Given the description of an element on the screen output the (x, y) to click on. 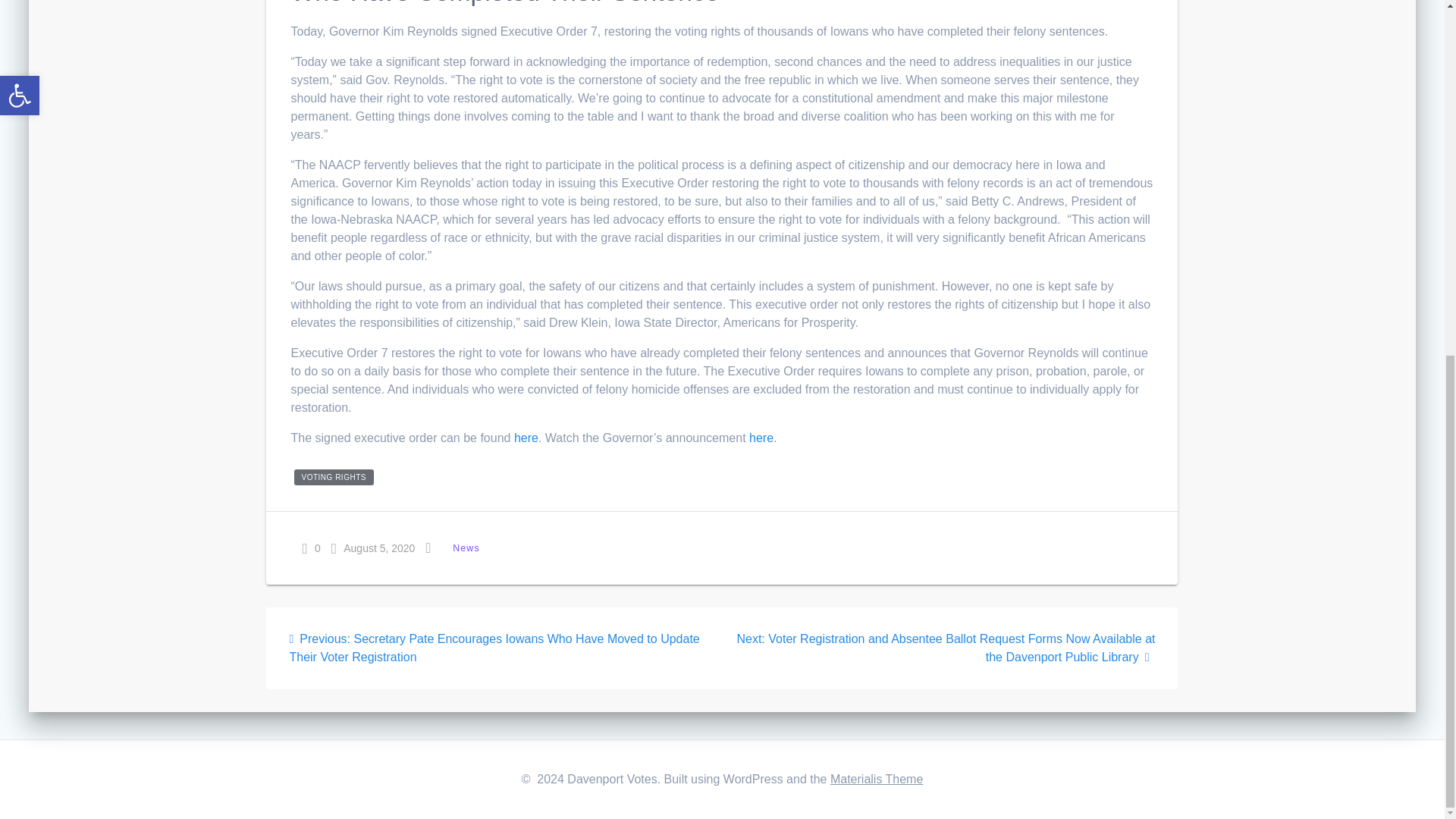
August 5, 2020 (372, 547)
News (466, 548)
0 (310, 547)
VOTING RIGHTS (334, 477)
here (525, 437)
Materialis Theme (876, 779)
here (761, 437)
